Given the description of an element on the screen output the (x, y) to click on. 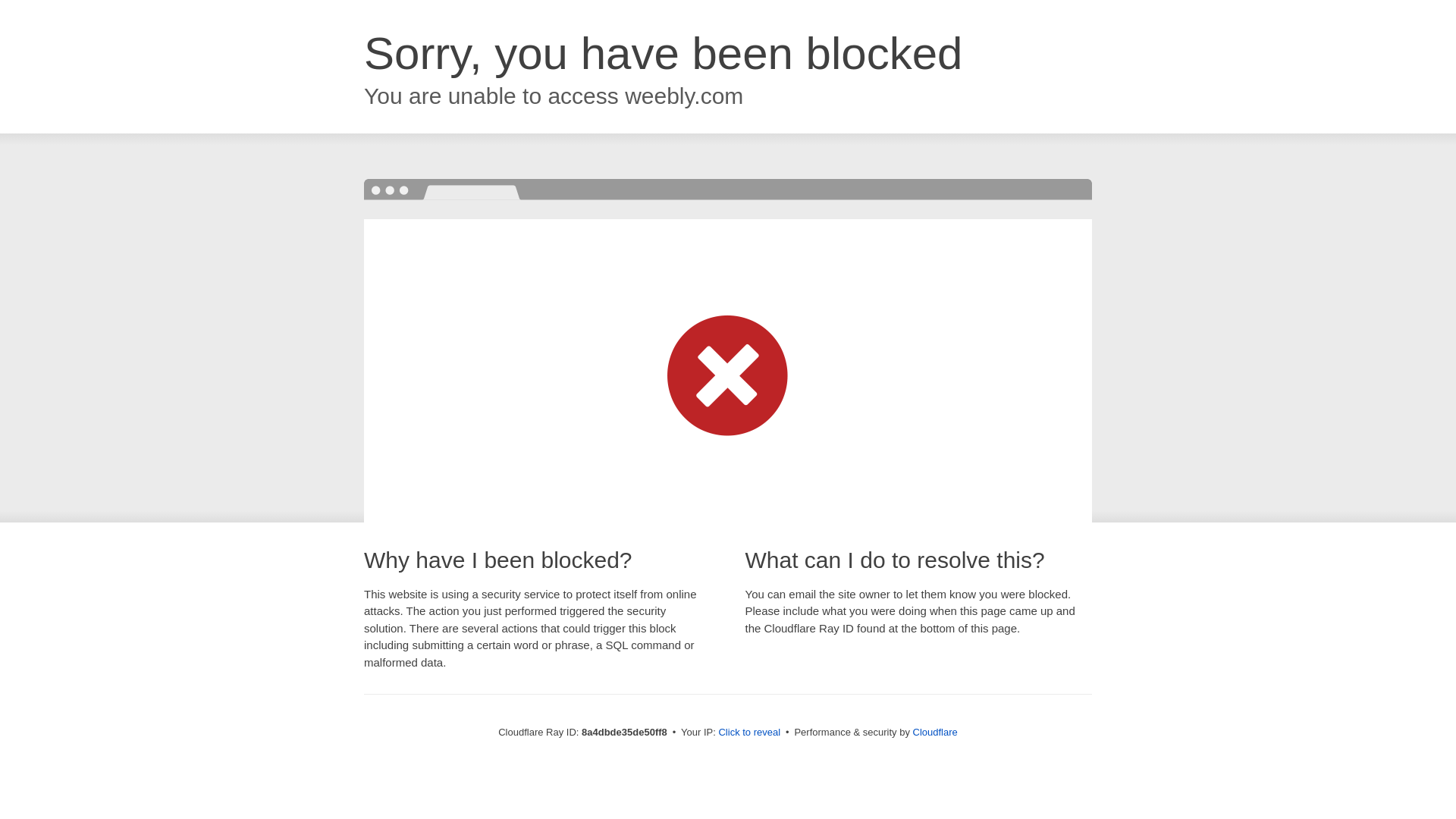
Click to reveal (748, 732)
Cloudflare (935, 731)
